Given the description of an element on the screen output the (x, y) to click on. 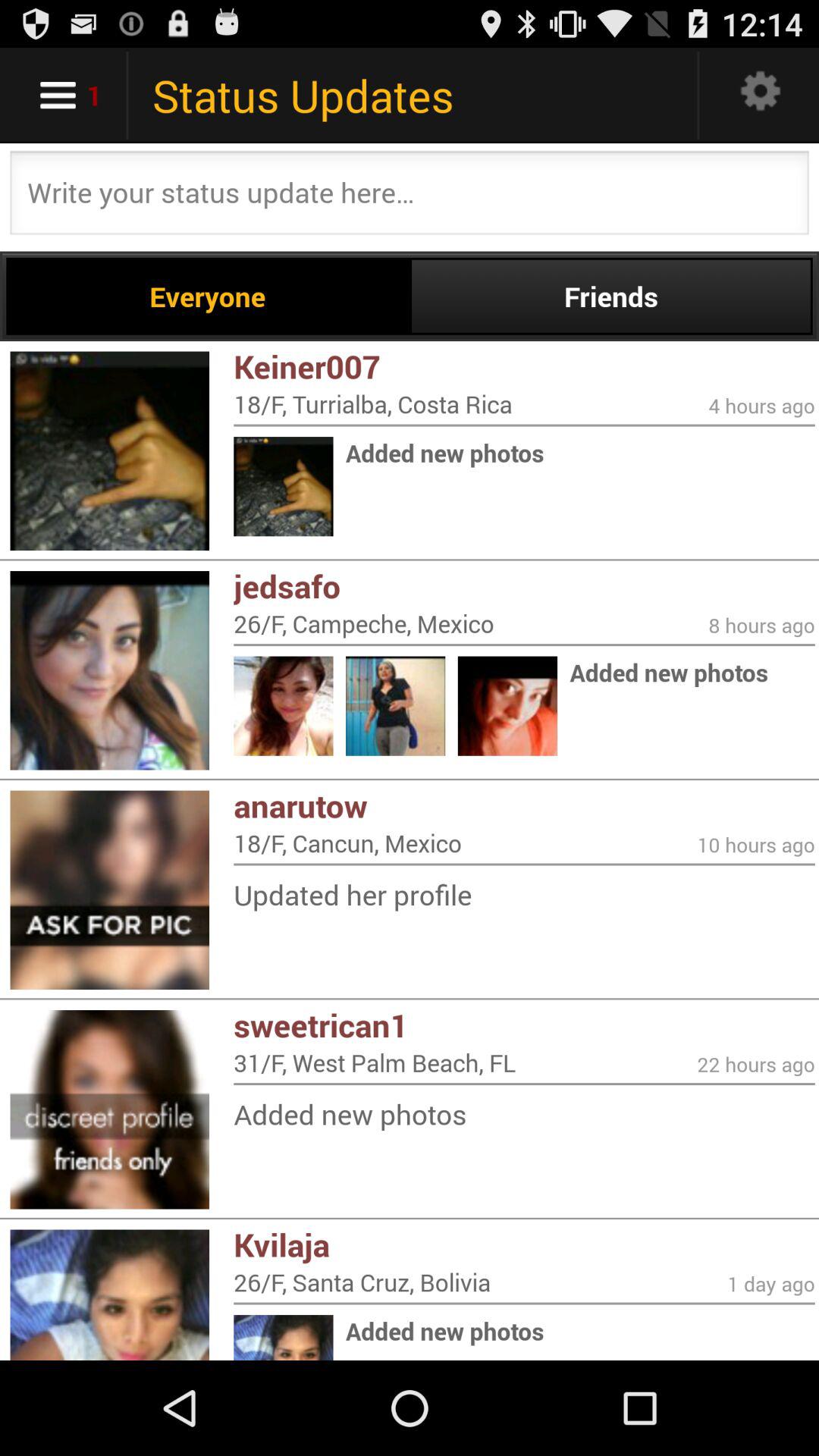
jump until 1 day ago app (771, 1283)
